Given the description of an element on the screen output the (x, y) to click on. 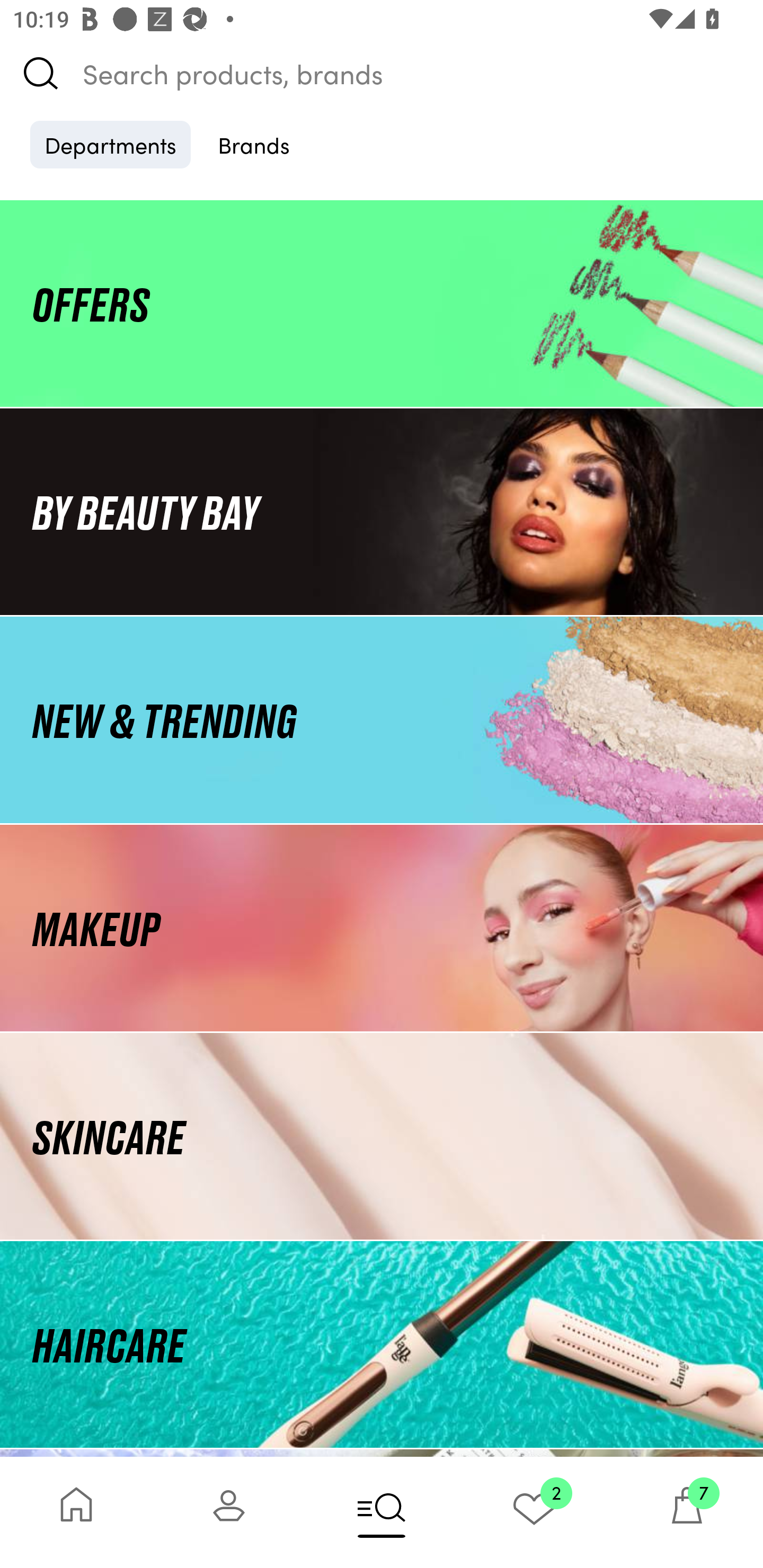
Search products, brands (381, 72)
Departments (110, 143)
Brands (253, 143)
OFFERS (381, 303)
BY BEAUTY BAY (381, 510)
NEW & TRENDING (381, 719)
MAKEUP (381, 927)
SKINCARE (381, 1136)
HAIRCARE (381, 1344)
2 (533, 1512)
7 (686, 1512)
